Given the description of an element on the screen output the (x, y) to click on. 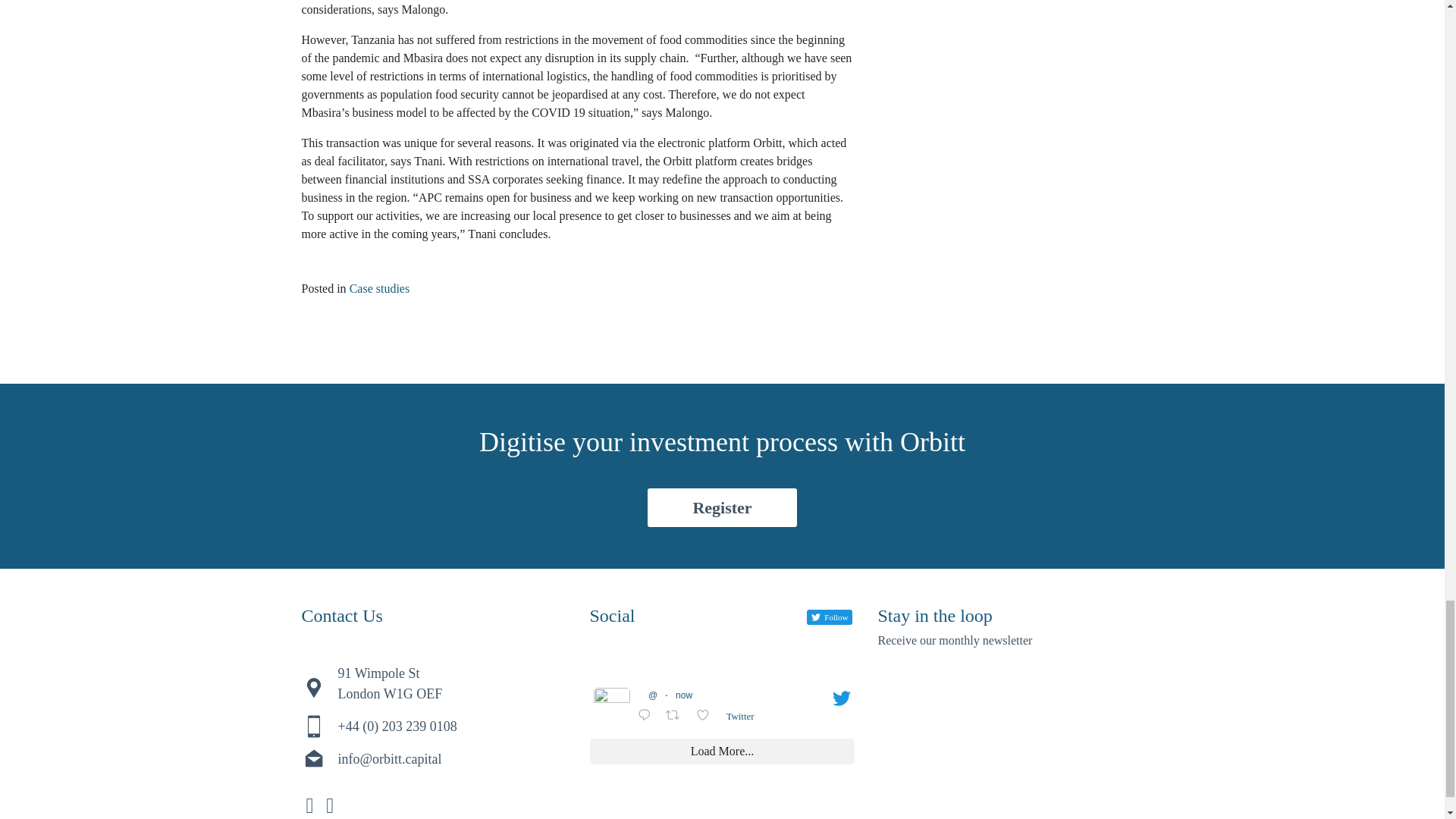
Case studies (379, 287)
